Given the description of an element on the screen output the (x, y) to click on. 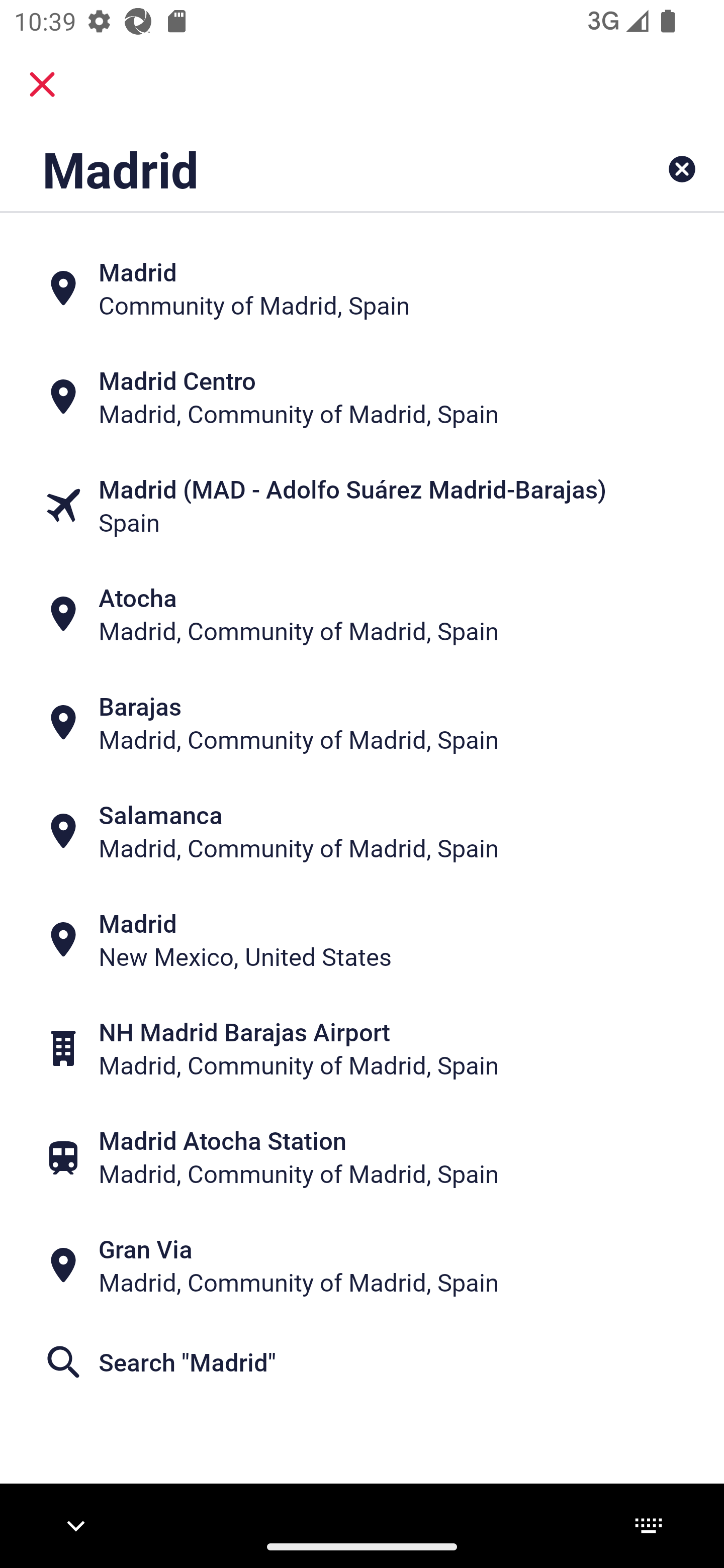
close. (42, 84)
Clear (681, 169)
Madrid (298, 169)
Madrid Community of Madrid, Spain (362, 288)
Madrid Centro Madrid, Community of Madrid, Spain (362, 397)
Madrid (MAD - Adolfo Suárez Madrid-Barajas) Spain (362, 505)
Atocha Madrid, Community of Madrid, Spain (362, 613)
Barajas Madrid, Community of Madrid, Spain (362, 722)
Salamanca Madrid, Community of Madrid, Spain (362, 831)
Madrid New Mexico, United States (362, 939)
Gran Via Madrid, Community of Madrid, Spain (362, 1265)
Search "Madrid" (361, 1362)
